Given the description of an element on the screen output the (x, y) to click on. 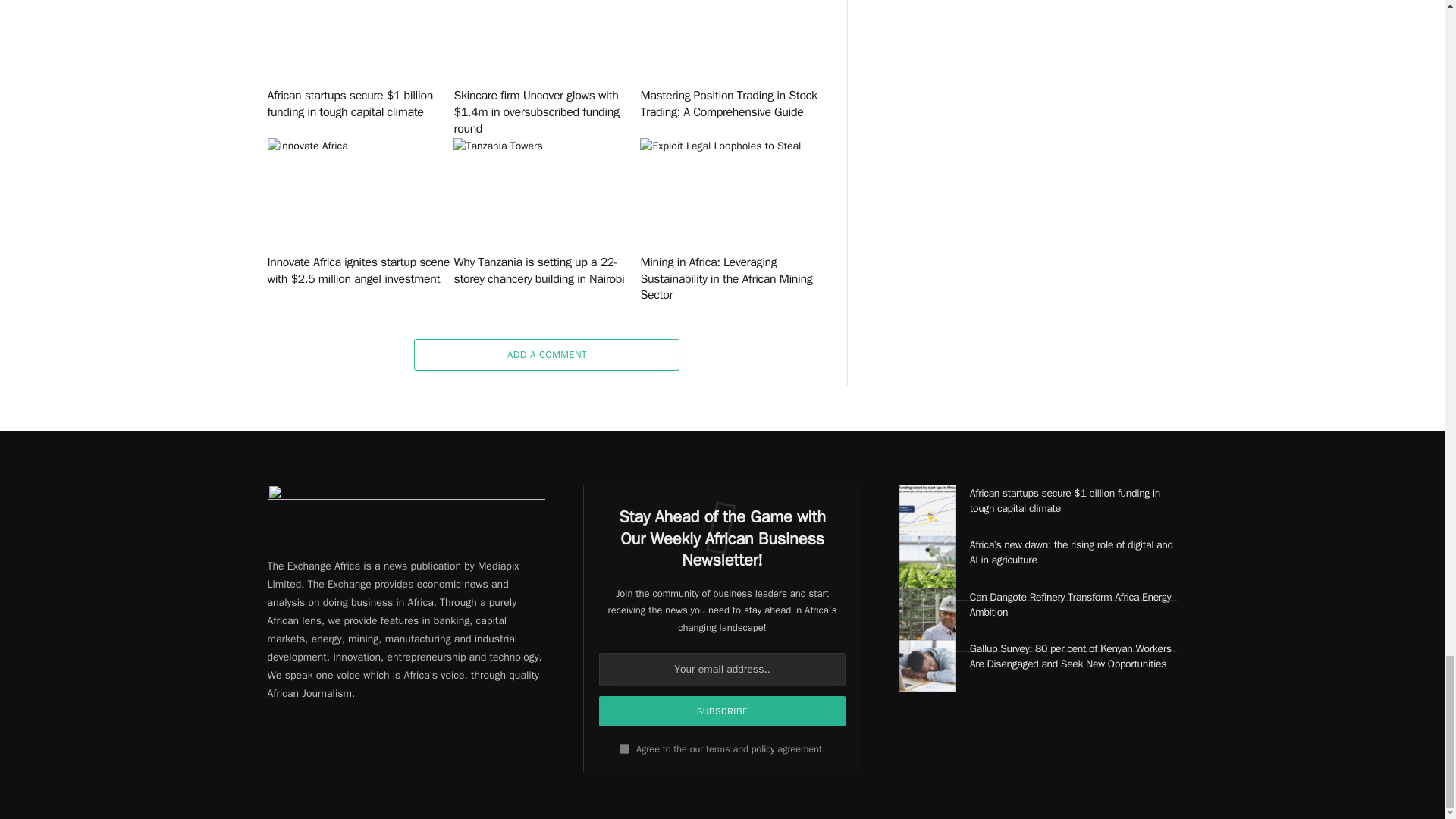
on (624, 748)
Subscribe (721, 711)
